Given the description of an element on the screen output the (x, y) to click on. 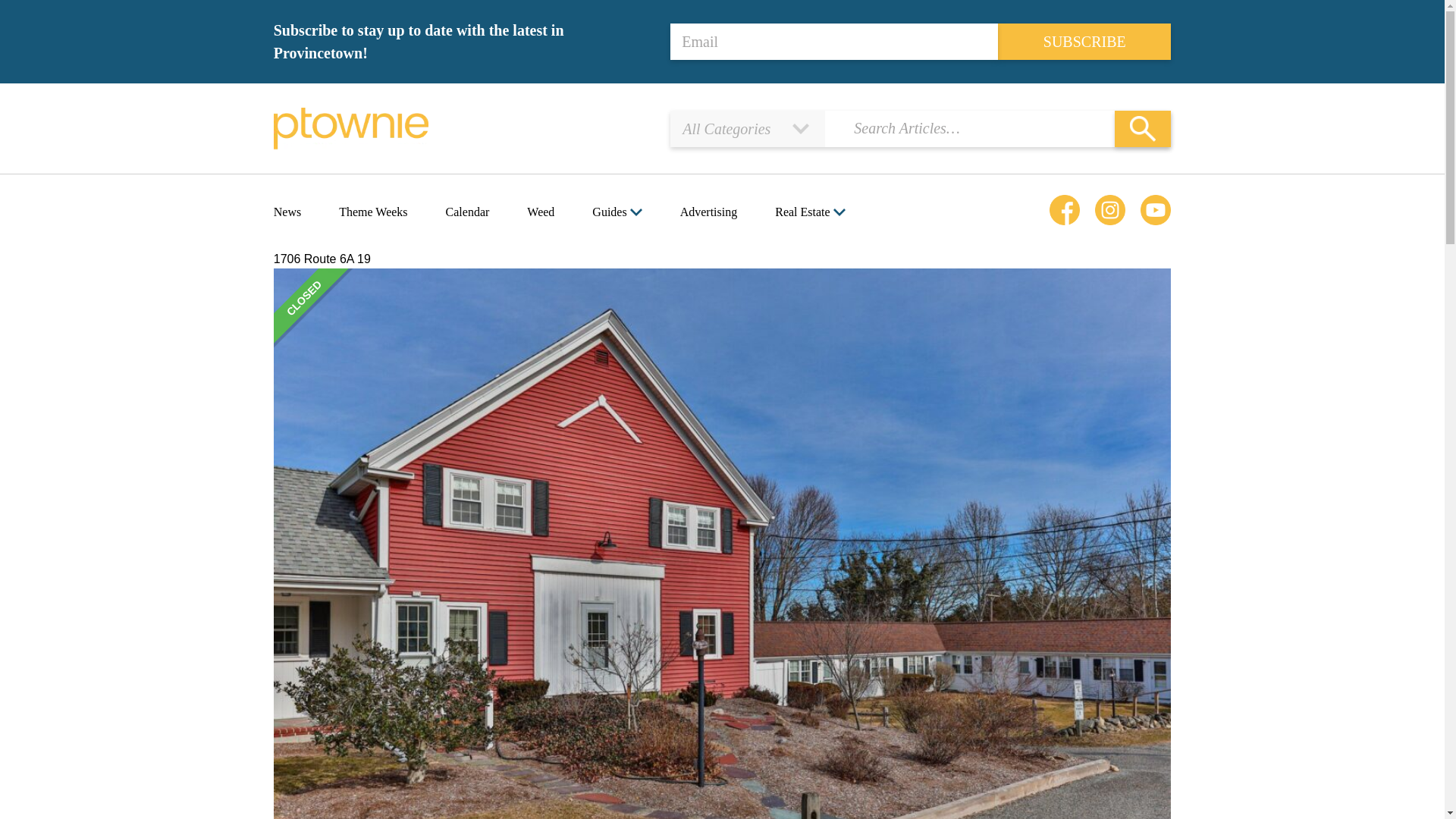
SUBSCRIBE (1083, 41)
Theme Weeks (373, 211)
News (287, 211)
Weed (540, 211)
Advertising (708, 211)
Guides (609, 211)
SUBSCRIBE (1083, 41)
Real Estate (801, 211)
